Given the description of an element on the screen output the (x, y) to click on. 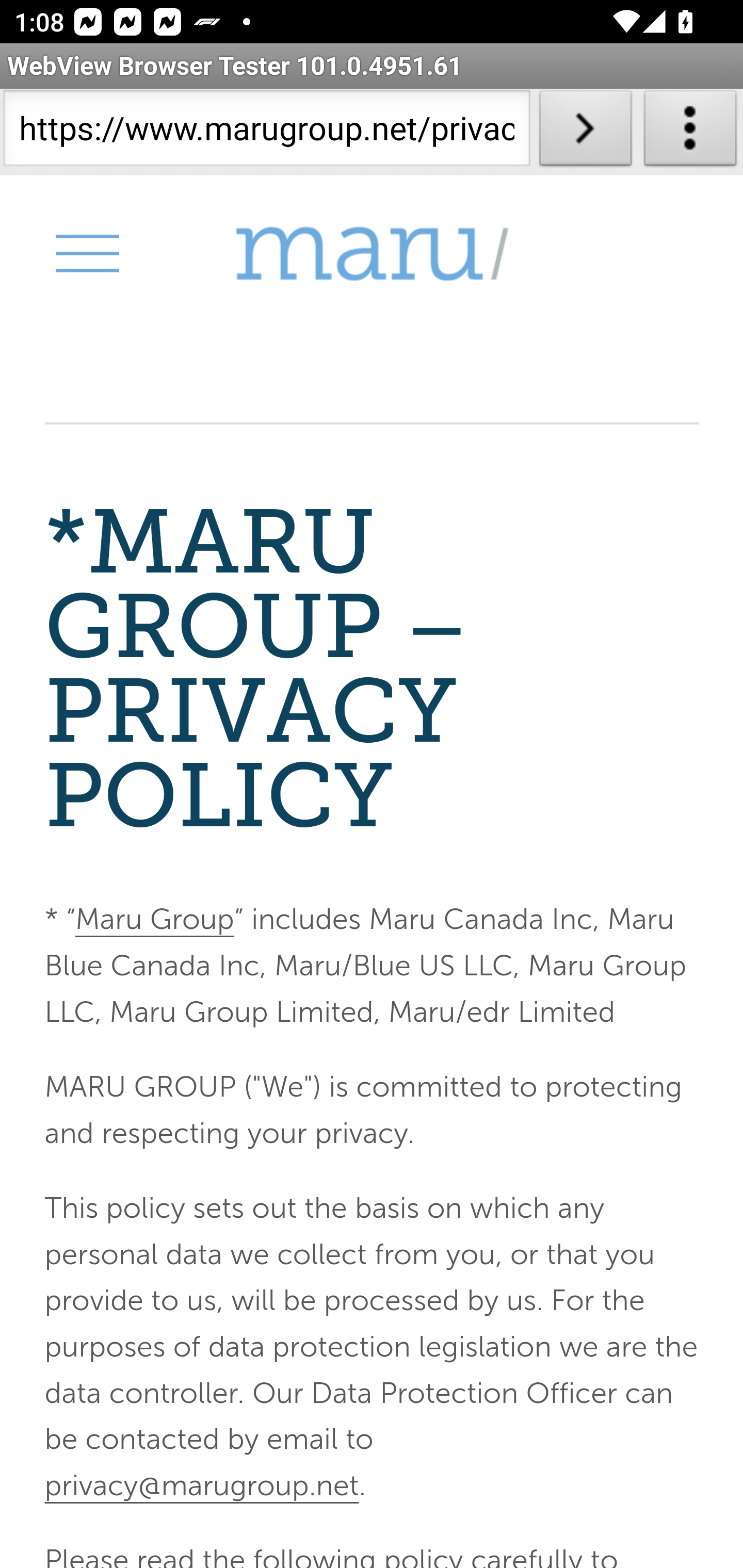
https://www.marugroup.net/privacy-policy/ (266, 132)
Load URL (585, 132)
About WebView (690, 132)
Open Menu (86, 252)
Maru Group (371, 253)
Maru Group (153, 920)
privacy@marugroup.net (200, 1484)
